Given the description of an element on the screen output the (x, y) to click on. 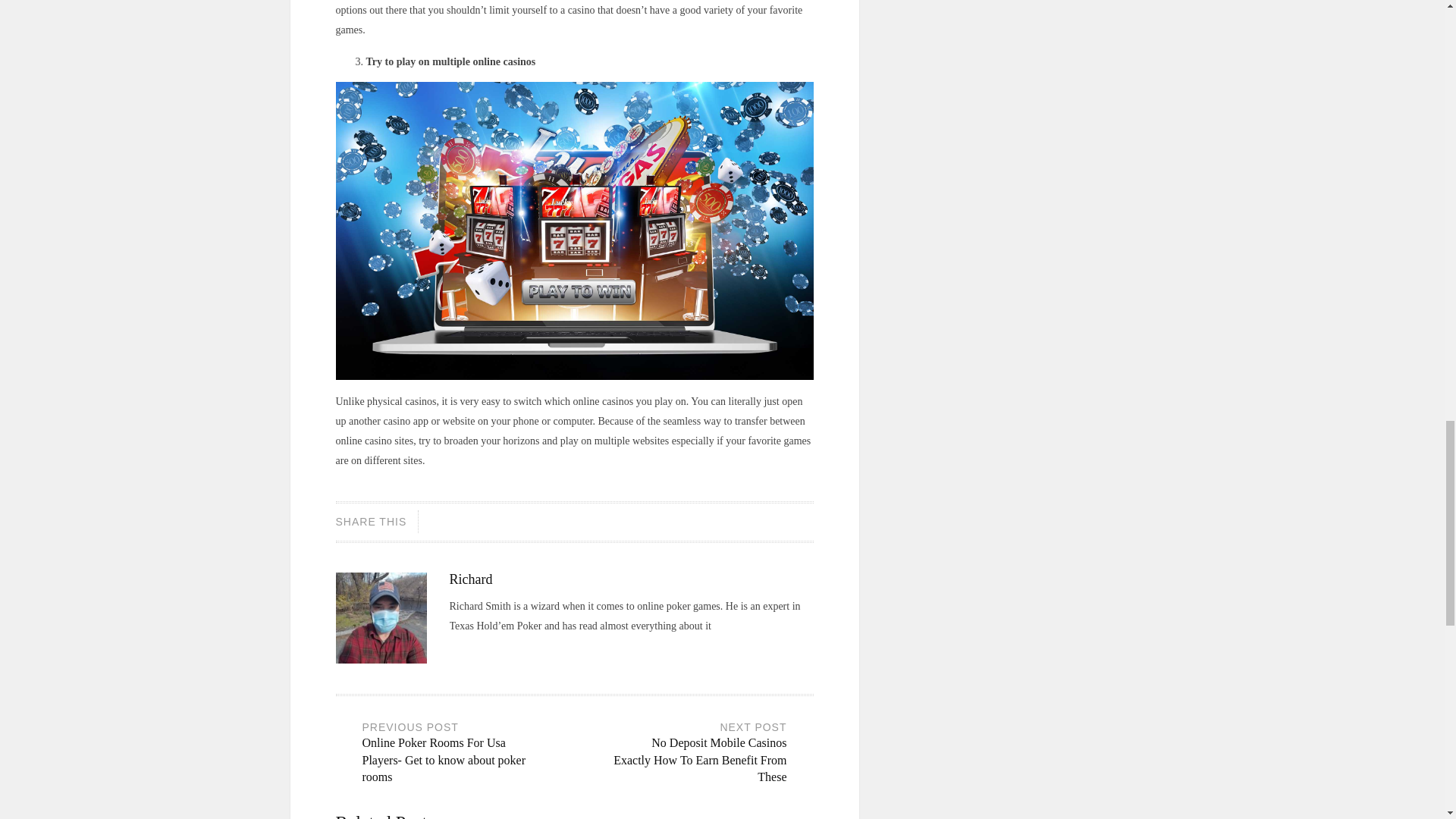
Richard's website (454, 647)
